Given the description of an element on the screen output the (x, y) to click on. 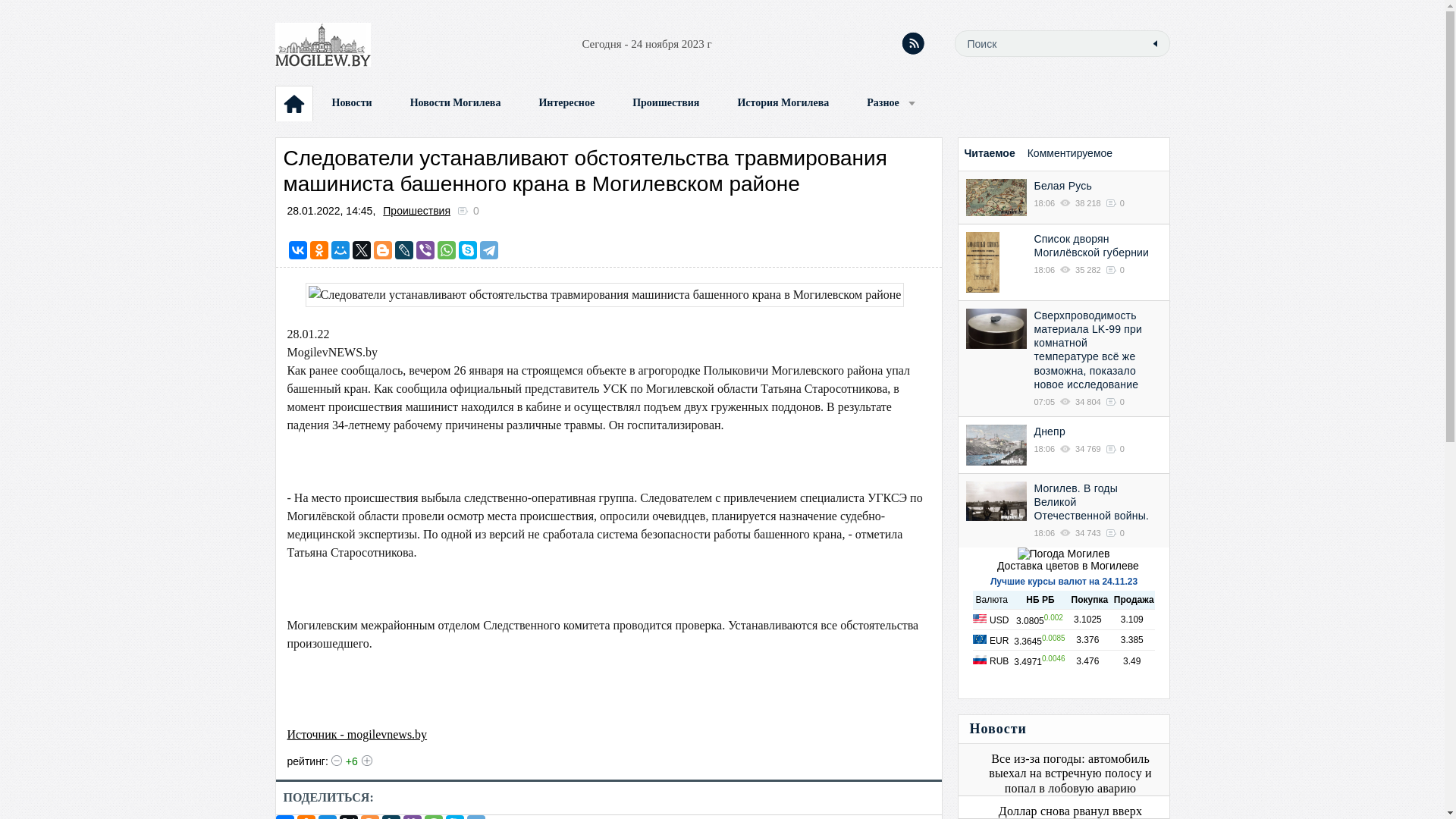
Telegram Element type: hover (489, 250)
Twitter Element type: hover (361, 250)
Skype Element type: hover (467, 250)
LiveJournal Element type: hover (404, 250)
Odnoklassniki Element type: hover (319, 250)
WhatsApp Element type: hover (446, 250)
Moi Mir Element type: hover (340, 250)
VKontakte Element type: hover (297, 250)
Viber Element type: hover (425, 250)
Blogger Element type: hover (382, 250)
